Given the description of an element on the screen output the (x, y) to click on. 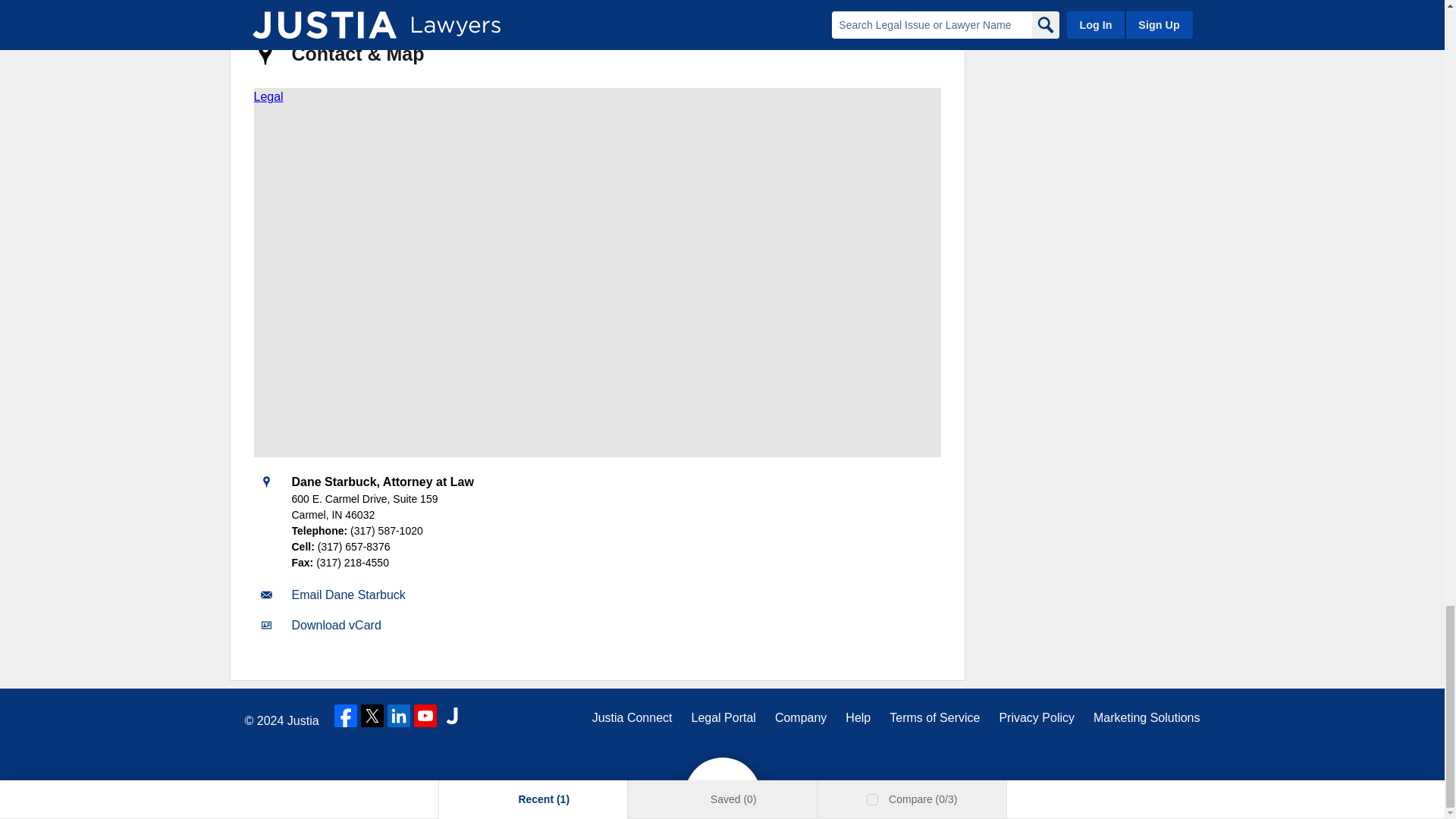
Download vCard (335, 625)
Email Dane Starbuck (347, 594)
